Given the description of an element on the screen output the (x, y) to click on. 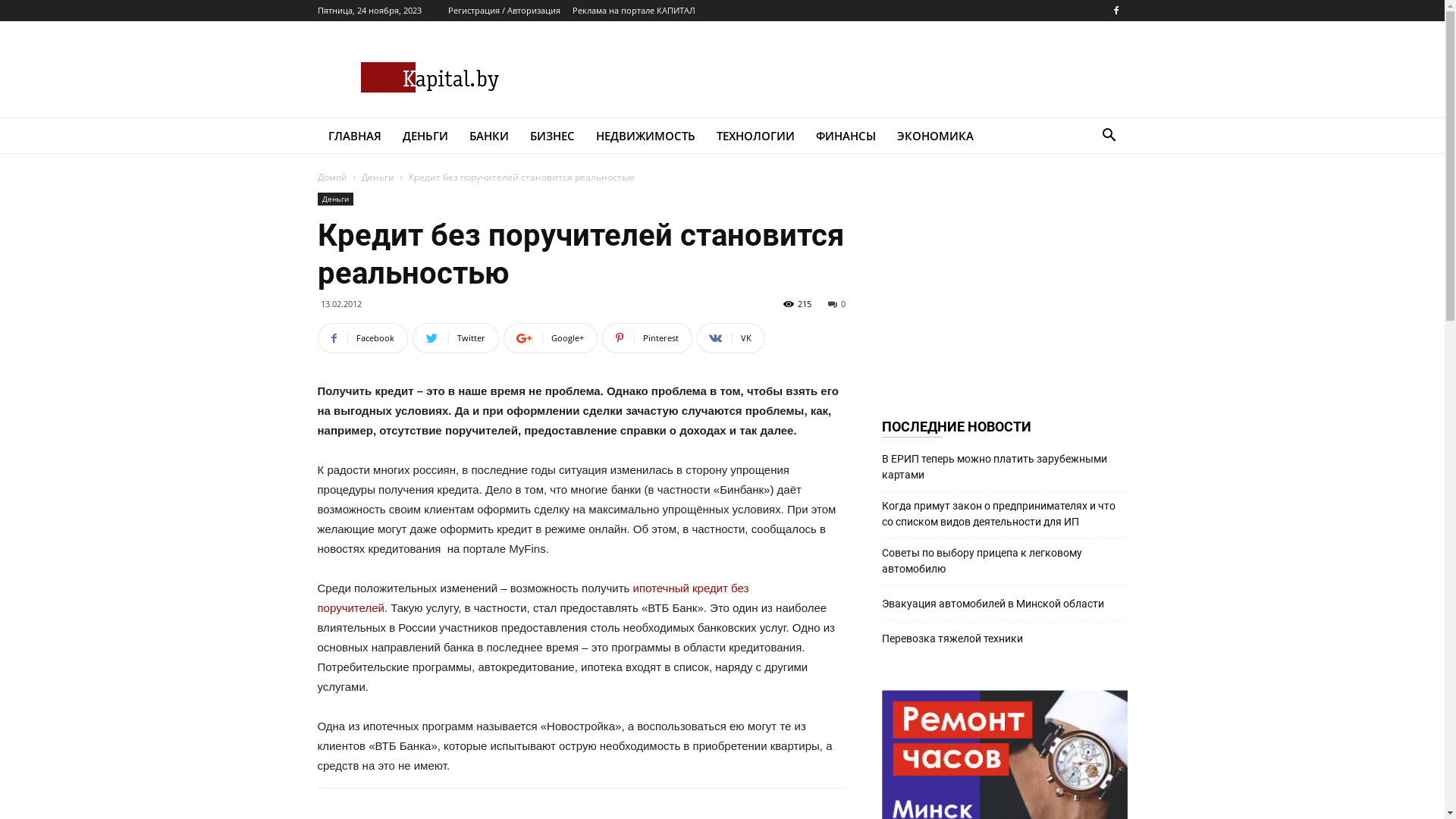
Facebook Element type: hover (1115, 10)
Facebook Element type: text (361, 338)
0 Element type: text (836, 303)
VK Element type: text (730, 338)
Pinterest Element type: text (647, 338)
Google+ Element type: text (550, 338)
Twitter Element type: text (455, 338)
Advertisement Element type: hover (1003, 287)
